Given the description of an element on the screen output the (x, y) to click on. 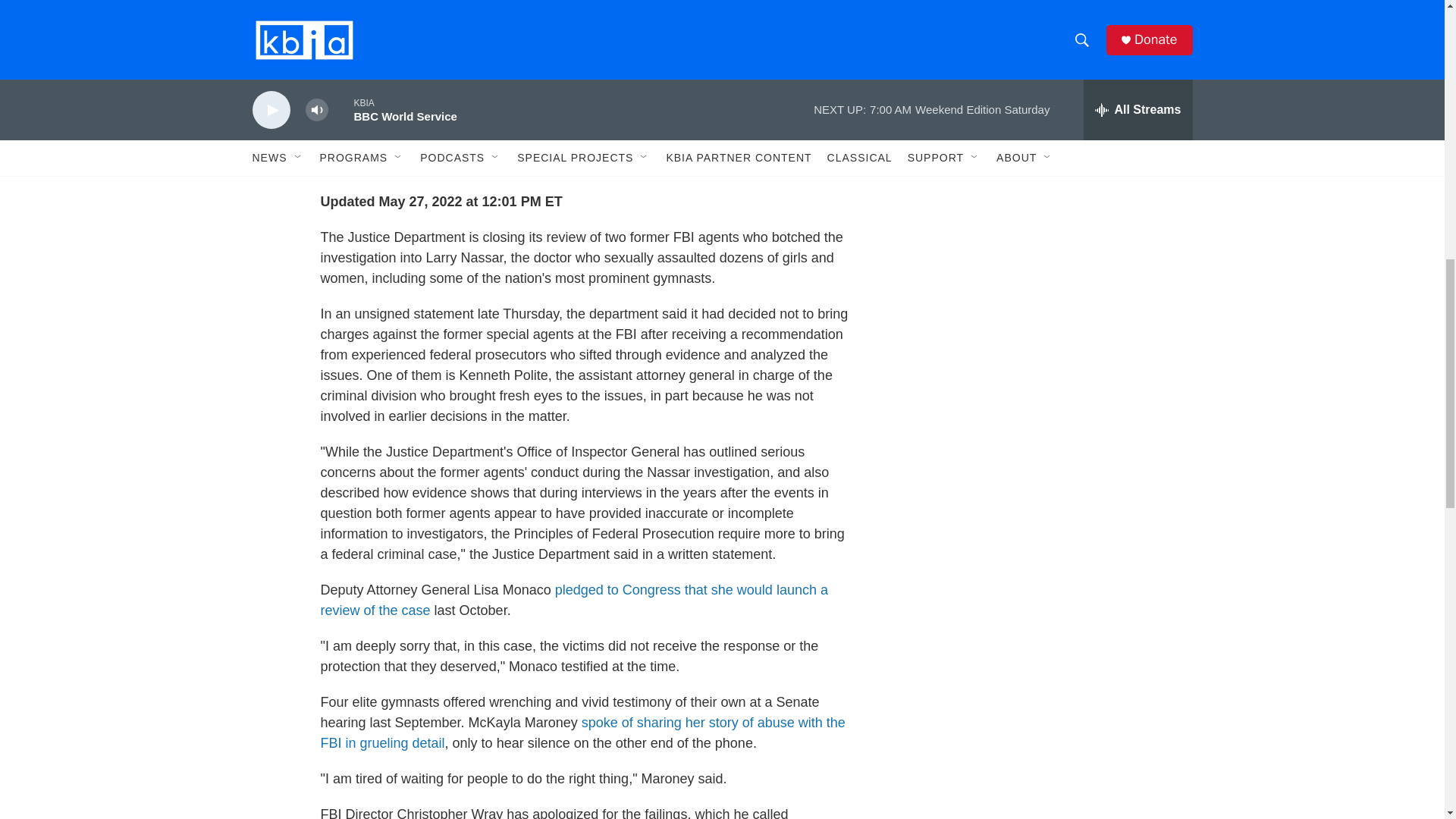
3rd party ad content (1062, 16)
